Given the description of an element on the screen output the (x, y) to click on. 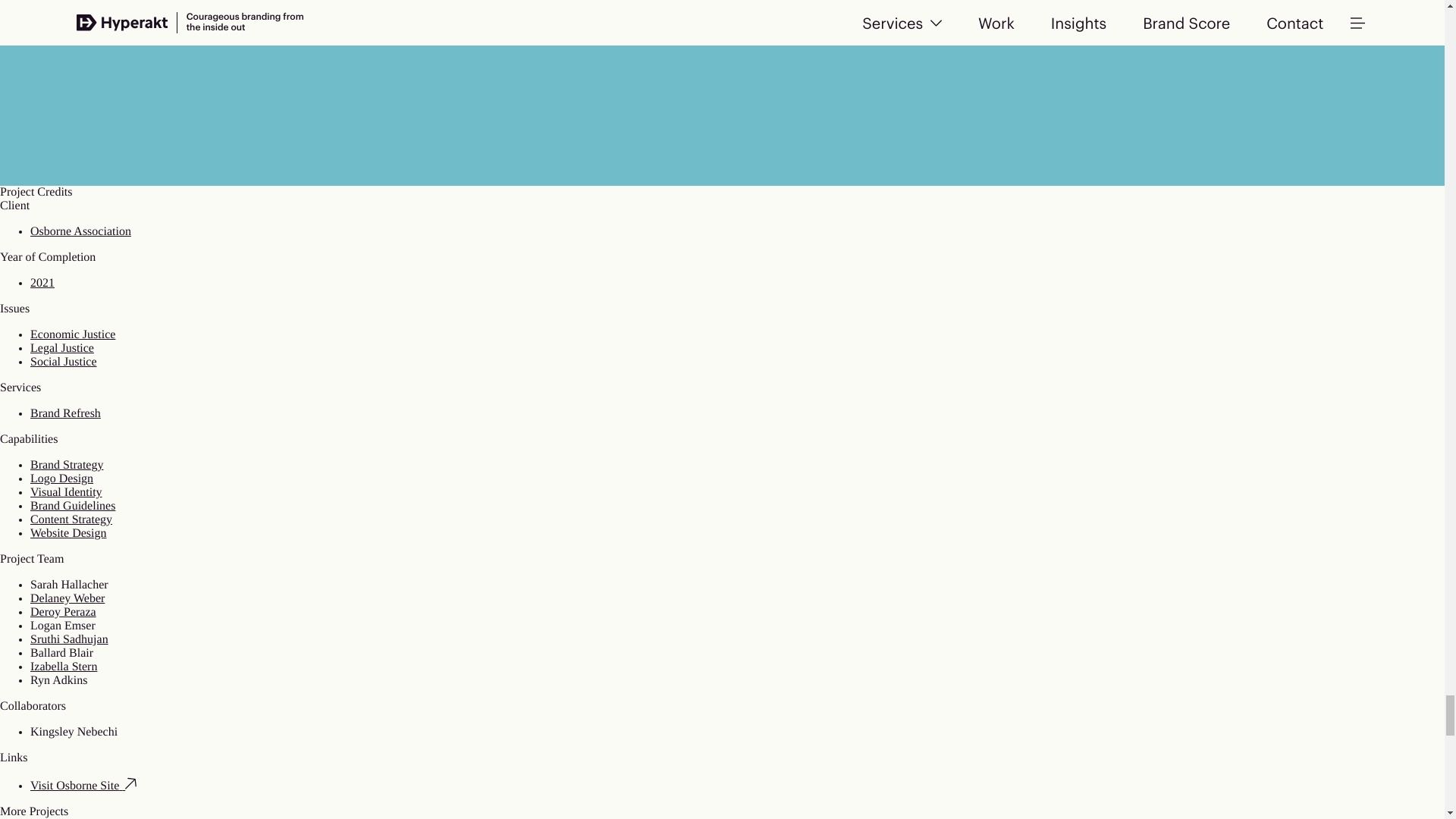
Social Justice (63, 361)
2021 (42, 282)
Legal Justice (62, 348)
Brand Refresh (65, 413)
Economic Justice (72, 334)
Osborne Association (80, 231)
Brand Strategy (66, 464)
Visual Identity (65, 492)
Logo Design (61, 478)
Content Strategy (71, 519)
Brand Guidelines (72, 505)
